Given the description of an element on the screen output the (x, y) to click on. 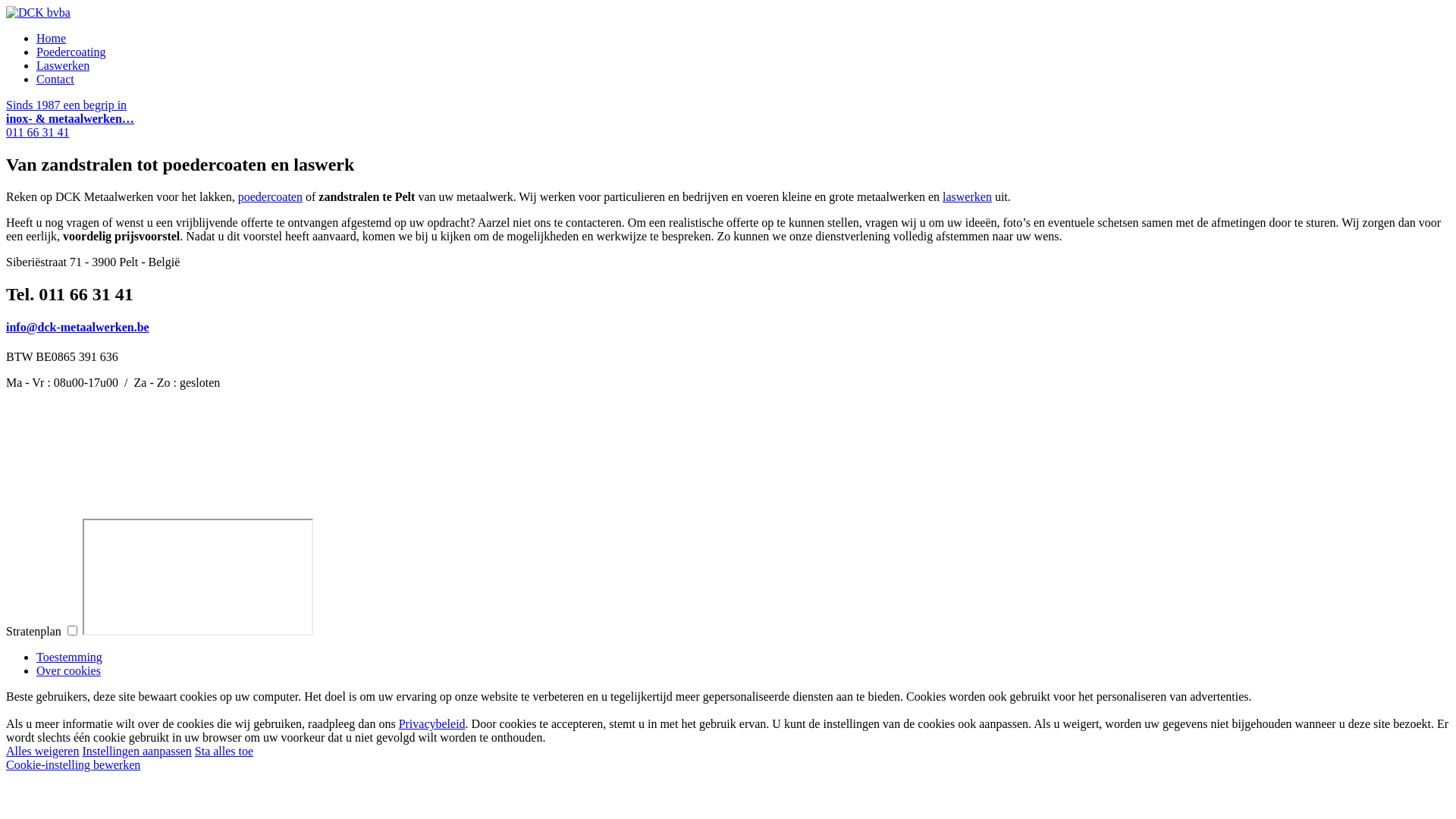
Alles weigeren Element type: text (42, 750)
Instellingen aanpassen Element type: text (136, 750)
info@dck-metaalwerken.be Element type: text (77, 326)
Laswerken Element type: text (62, 65)
Sta alles toe Element type: text (223, 750)
Over cookies Element type: text (68, 670)
Home Element type: text (50, 37)
Poedercoating Element type: text (71, 51)
Privacybeleid Element type: text (431, 723)
laswerken Element type: text (966, 196)
Contact Element type: text (55, 78)
poedercoaten Element type: text (270, 196)
Toestemming Element type: text (69, 656)
Cookie-instelling bewerken Element type: text (73, 764)
DCK bvba Element type: hover (38, 12)
